Given the description of an element on the screen output the (x, y) to click on. 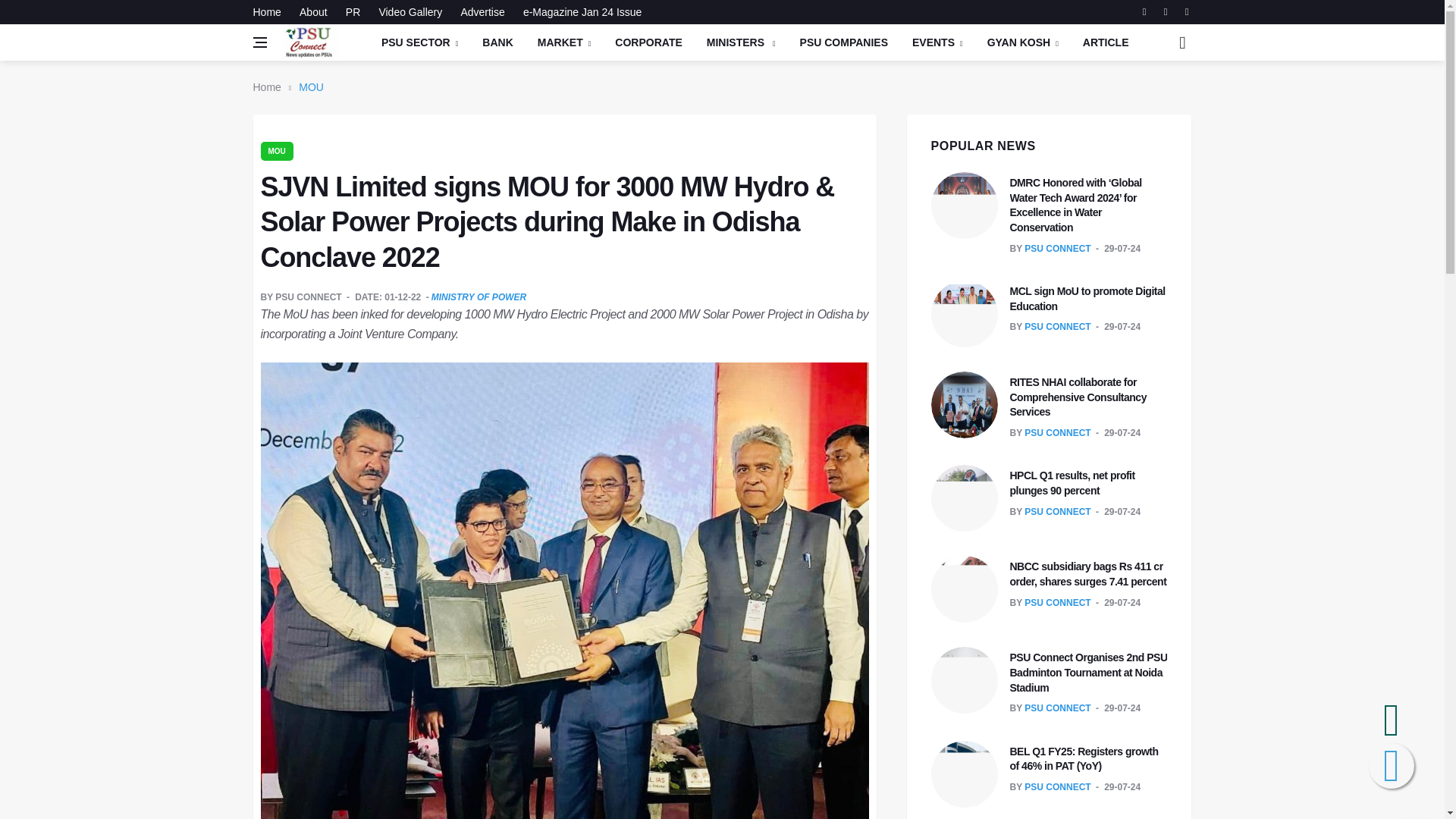
Advertise (482, 12)
Home (270, 12)
MCL sign MoU to promote Digital Education (1088, 298)
About (313, 12)
Video Gallery (410, 12)
View all news in MOU (310, 87)
PR (352, 12)
View all news in MOU (277, 149)
e-Magazine Jan 24 Issue (578, 12)
